Given the description of an element on the screen output the (x, y) to click on. 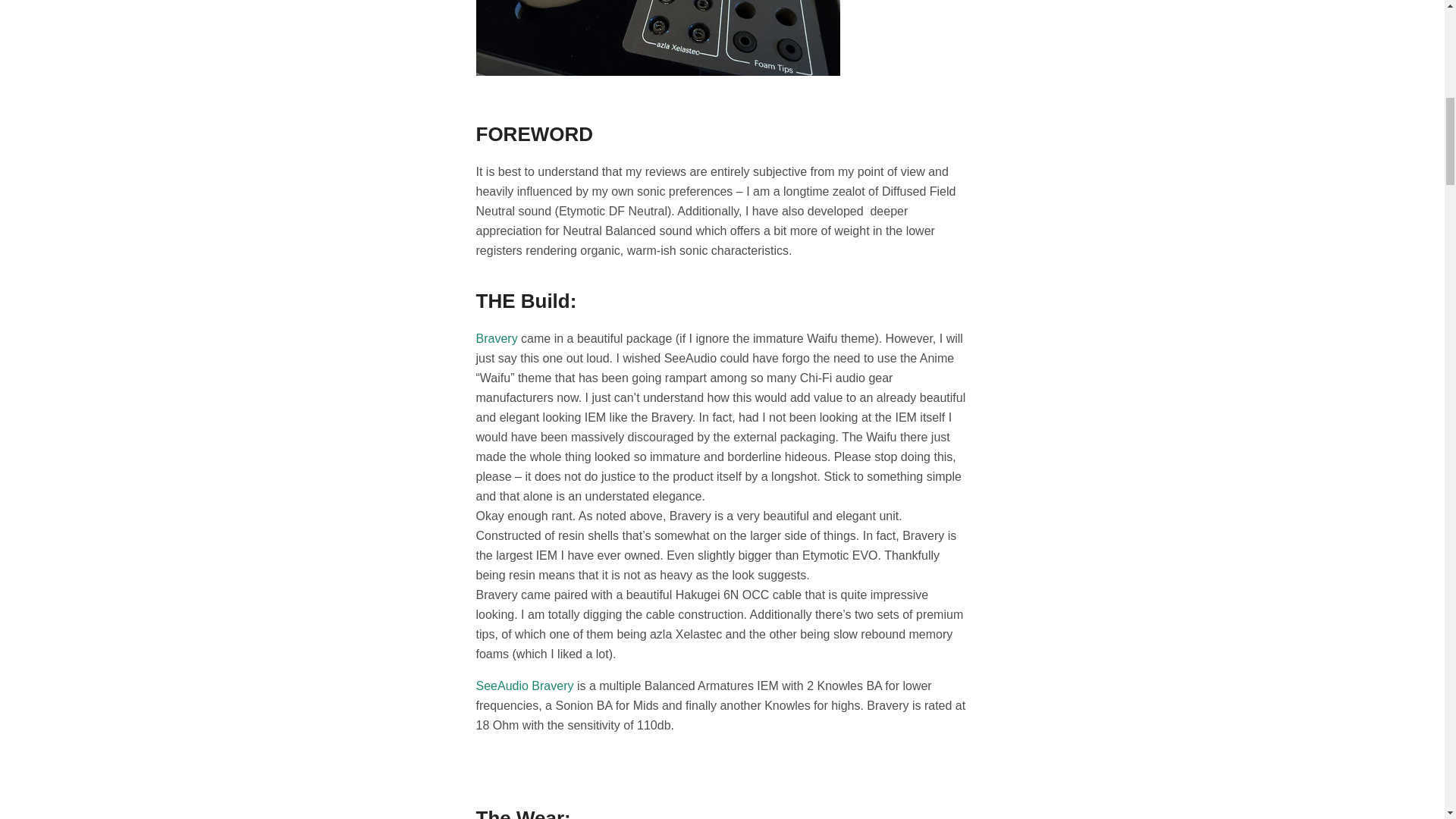
Bravery (497, 338)
